Given the description of an element on the screen output the (x, y) to click on. 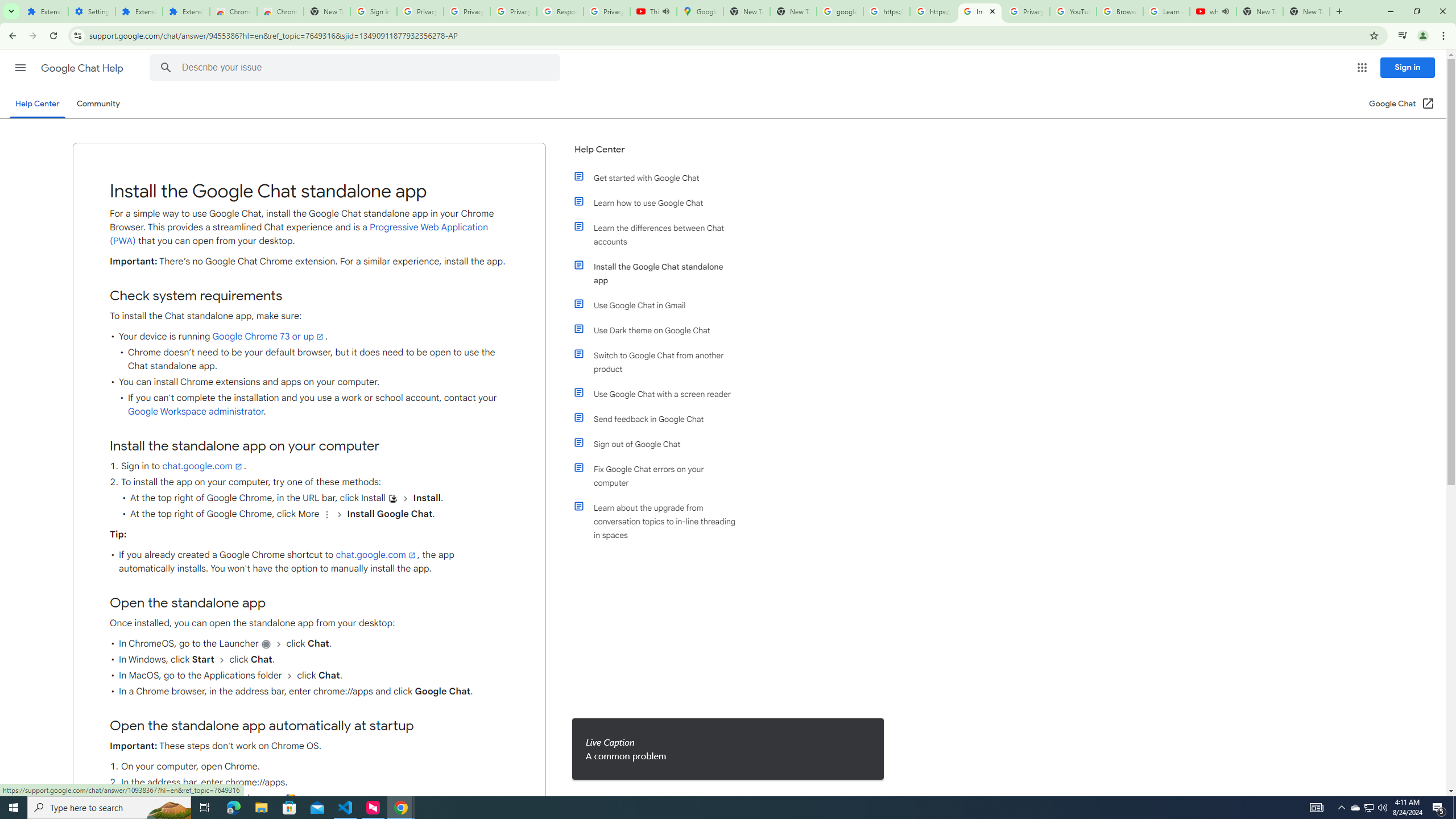
Search Help Center (165, 67)
Get started with Google Chat (661, 177)
Sign out of Google Chat (661, 444)
chat.google.com (375, 555)
Switch to Google Chat from another product (661, 362)
Chrome Web Store - Themes (279, 11)
Progressive Web Application (PWA) (299, 233)
Use Dark theme on Google Chat (661, 330)
